Given the description of an element on the screen output the (x, y) to click on. 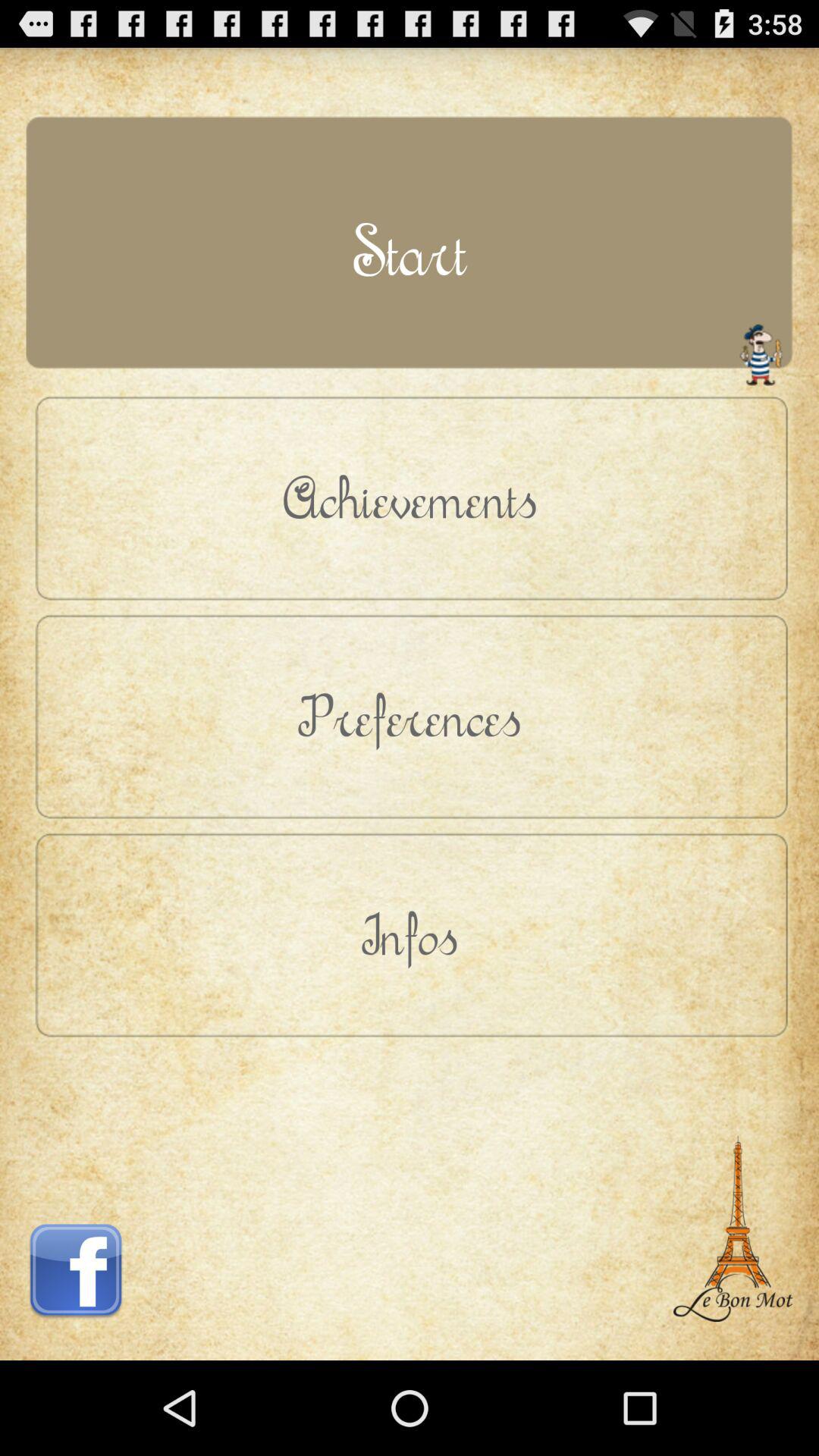
open the start button (409, 250)
